Given the description of an element on the screen output the (x, y) to click on. 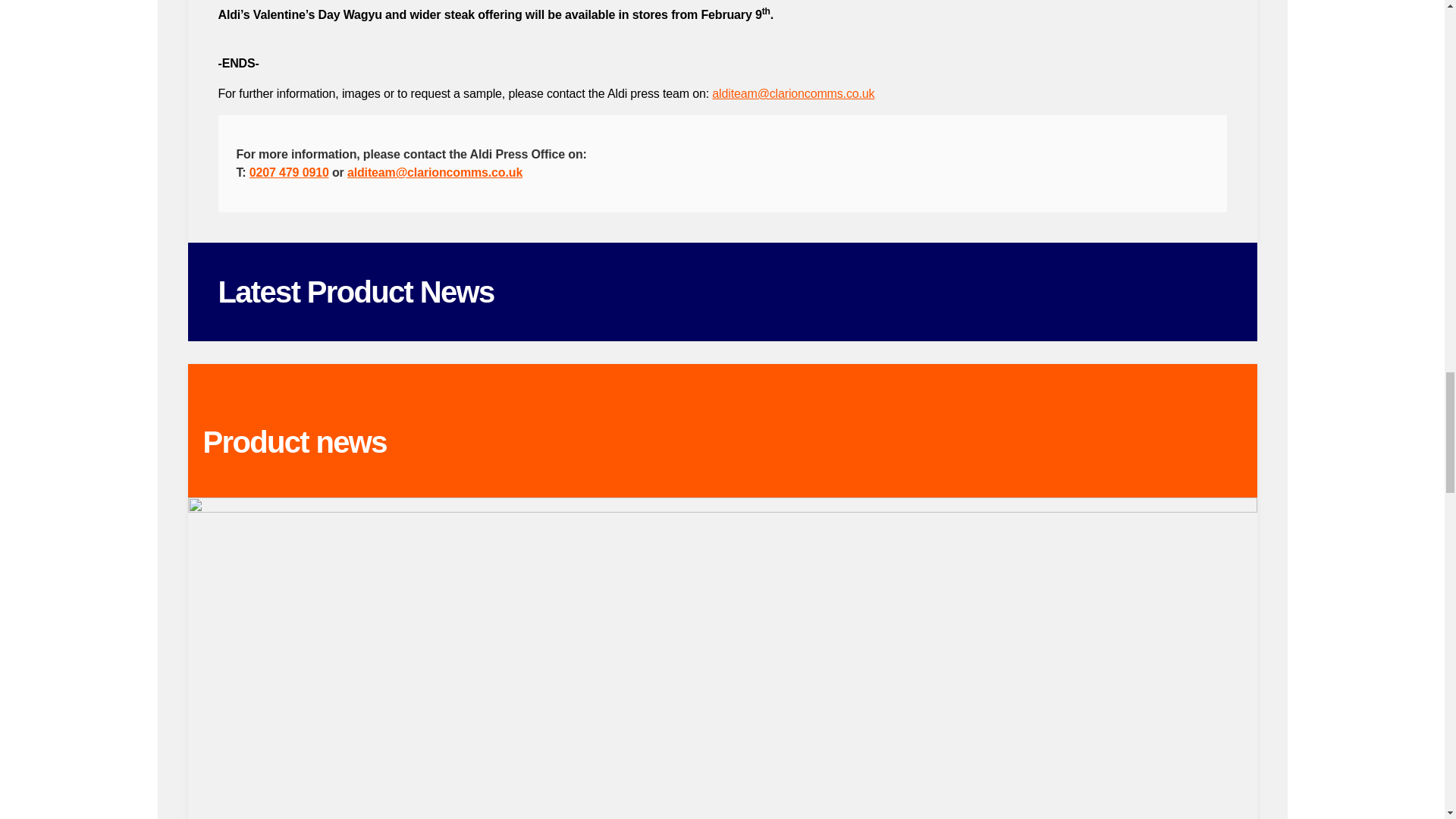
0207 479 0910 (288, 172)
